Given the description of an element on the screen output the (x, y) to click on. 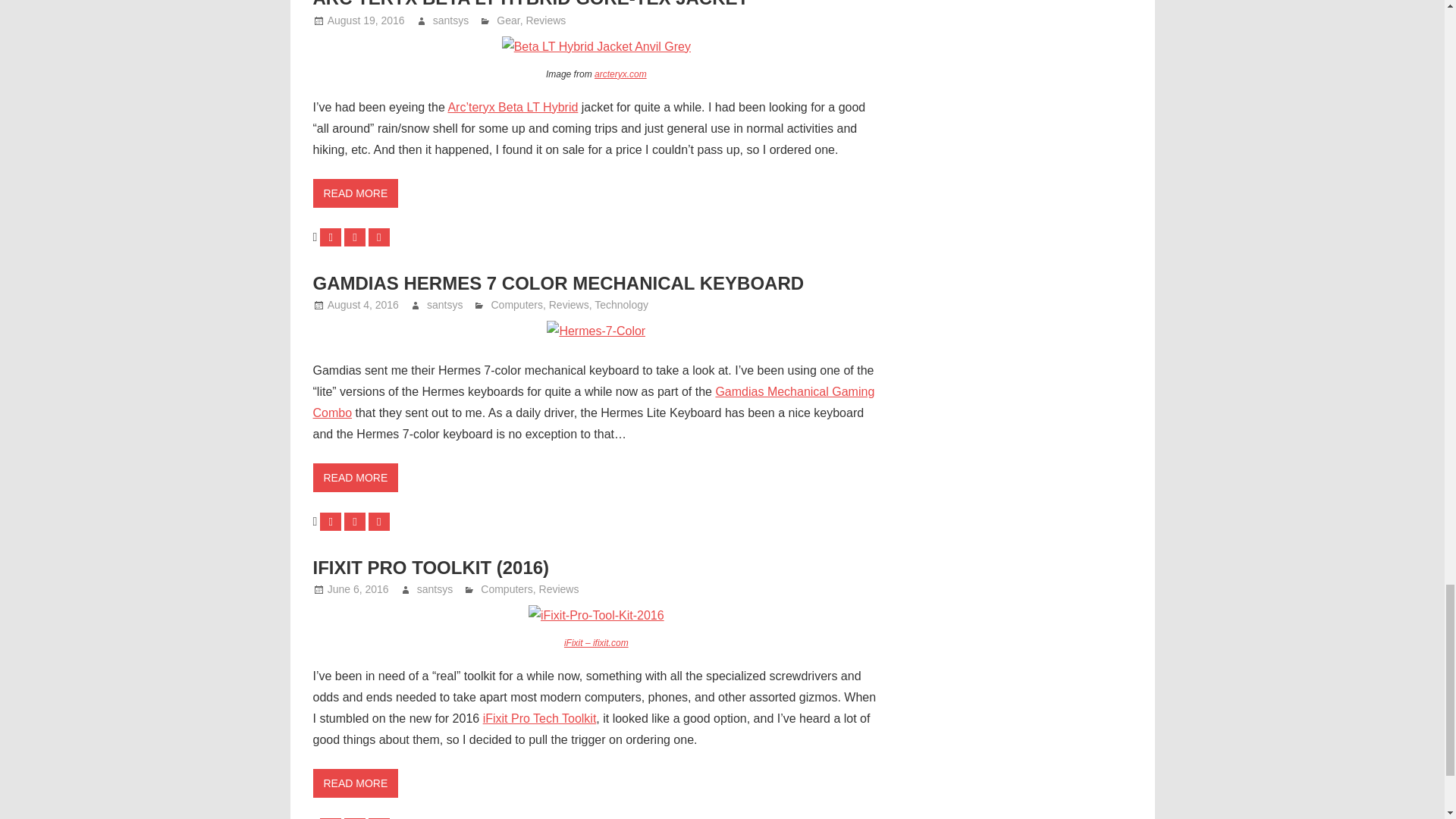
View all posts by santsys (444, 304)
6:53 am (365, 20)
4:14 pm (362, 304)
View all posts by santsys (450, 20)
